Given the description of an element on the screen output the (x, y) to click on. 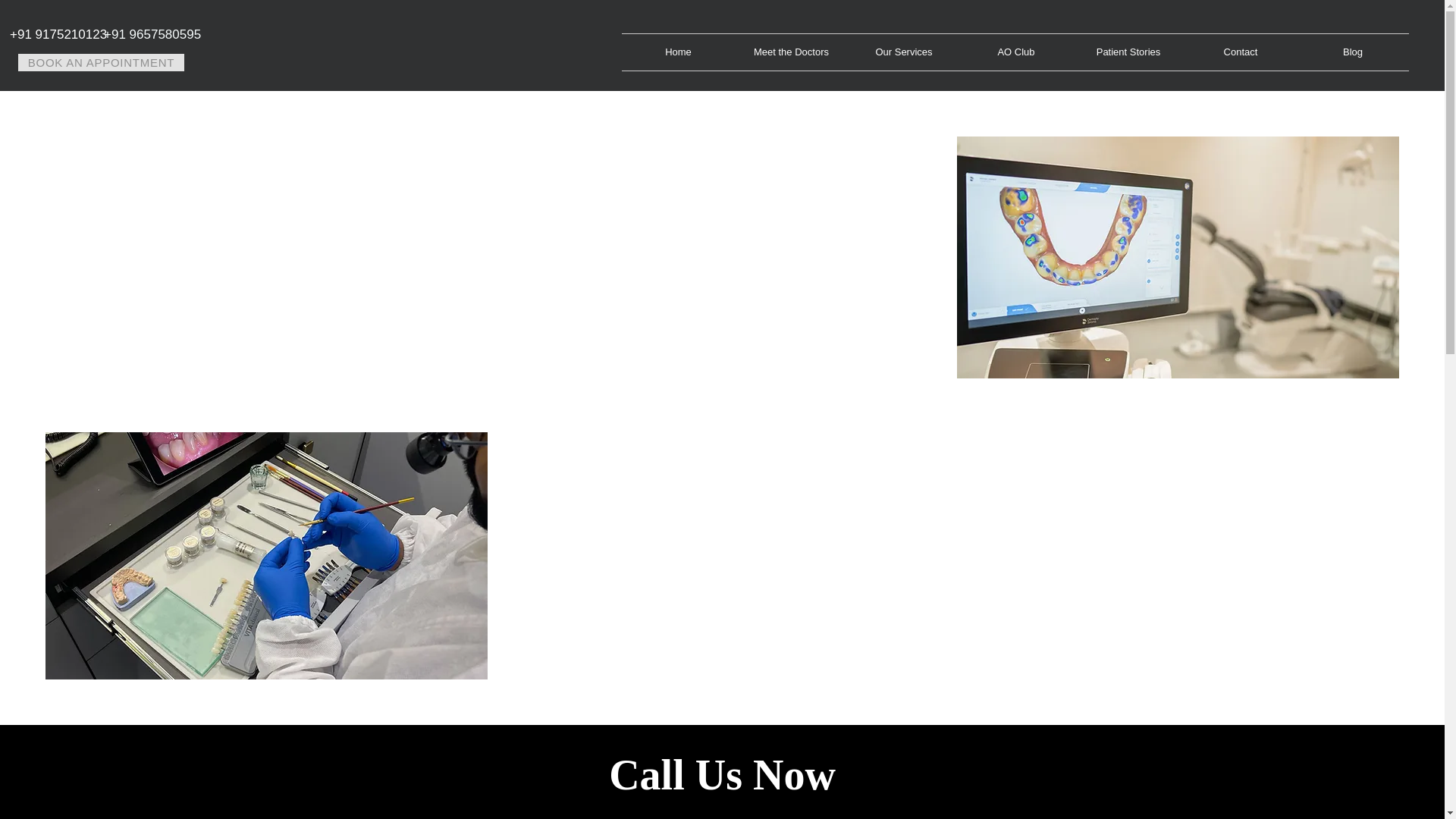
Home (678, 52)
Patient Stories (1128, 52)
Meet the Doctors (791, 52)
Our Services (903, 52)
BOOK AN APPOINTMENT (100, 62)
Contact (1241, 52)
AO Club (1015, 52)
Blog (1353, 52)
